Given the description of an element on the screen output the (x, y) to click on. 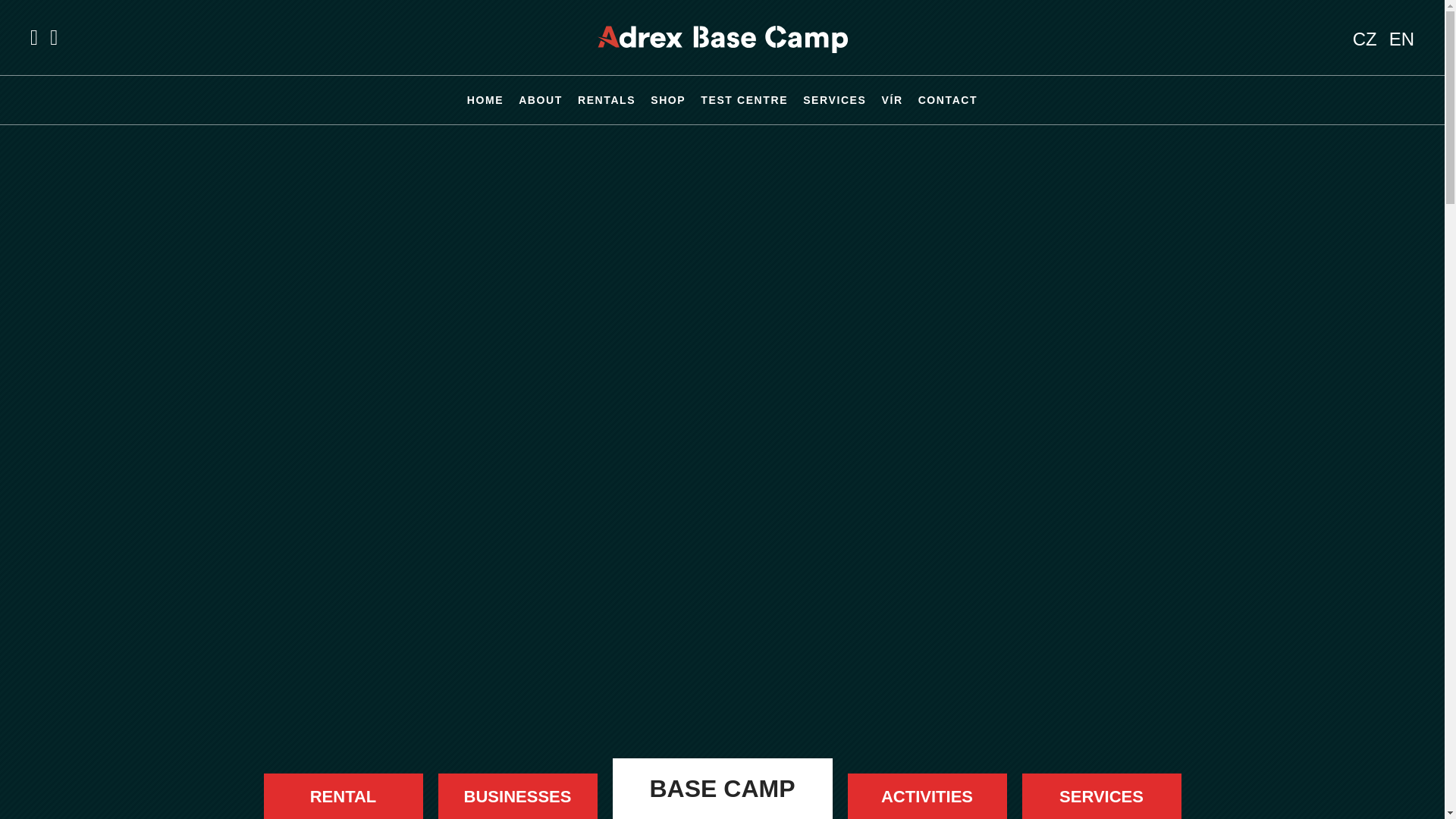
BUSINESSES (517, 796)
SHOP (667, 100)
RENTAL (343, 796)
ACTIVITIES (927, 796)
CZ (1364, 38)
TEST CENTRE (743, 100)
ABOUT (540, 100)
SERVICES (834, 100)
EN (1401, 38)
CONTACT (948, 100)
